Given the description of an element on the screen output the (x, y) to click on. 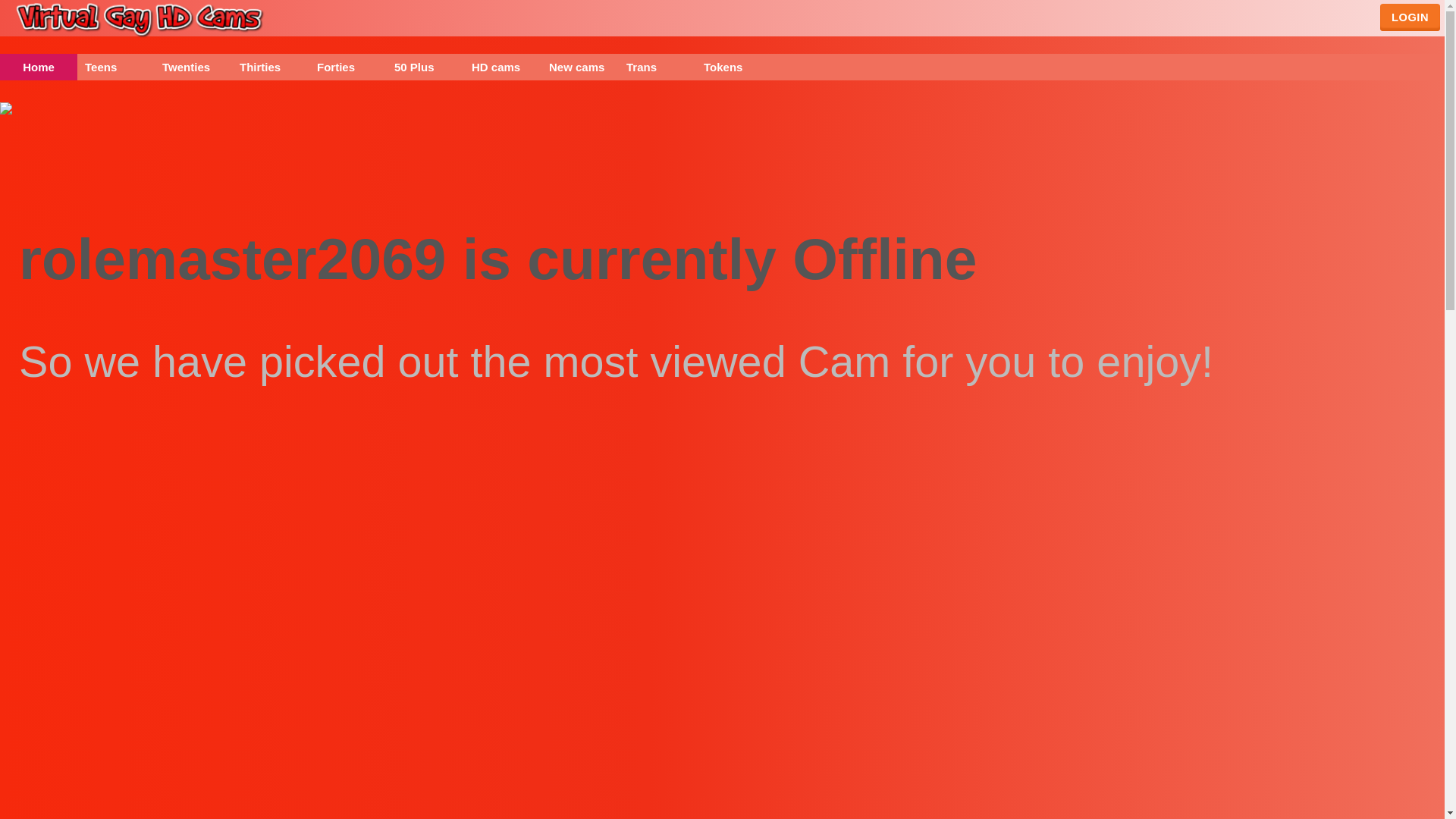
Home (38, 67)
New cams (579, 67)
50 Plus (425, 67)
Twenties (192, 67)
Teens (115, 67)
Forties (347, 67)
Login (1409, 17)
50 Plus (425, 67)
Tokens (734, 67)
Thirties (269, 67)
